Given the description of an element on the screen output the (x, y) to click on. 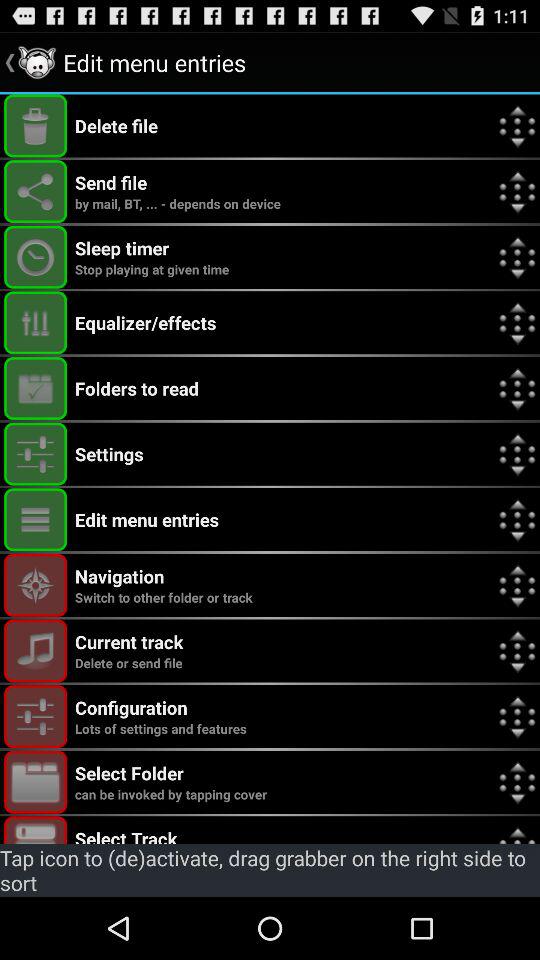
select folder for playlist (35, 781)
